Given the description of an element on the screen output the (x, y) to click on. 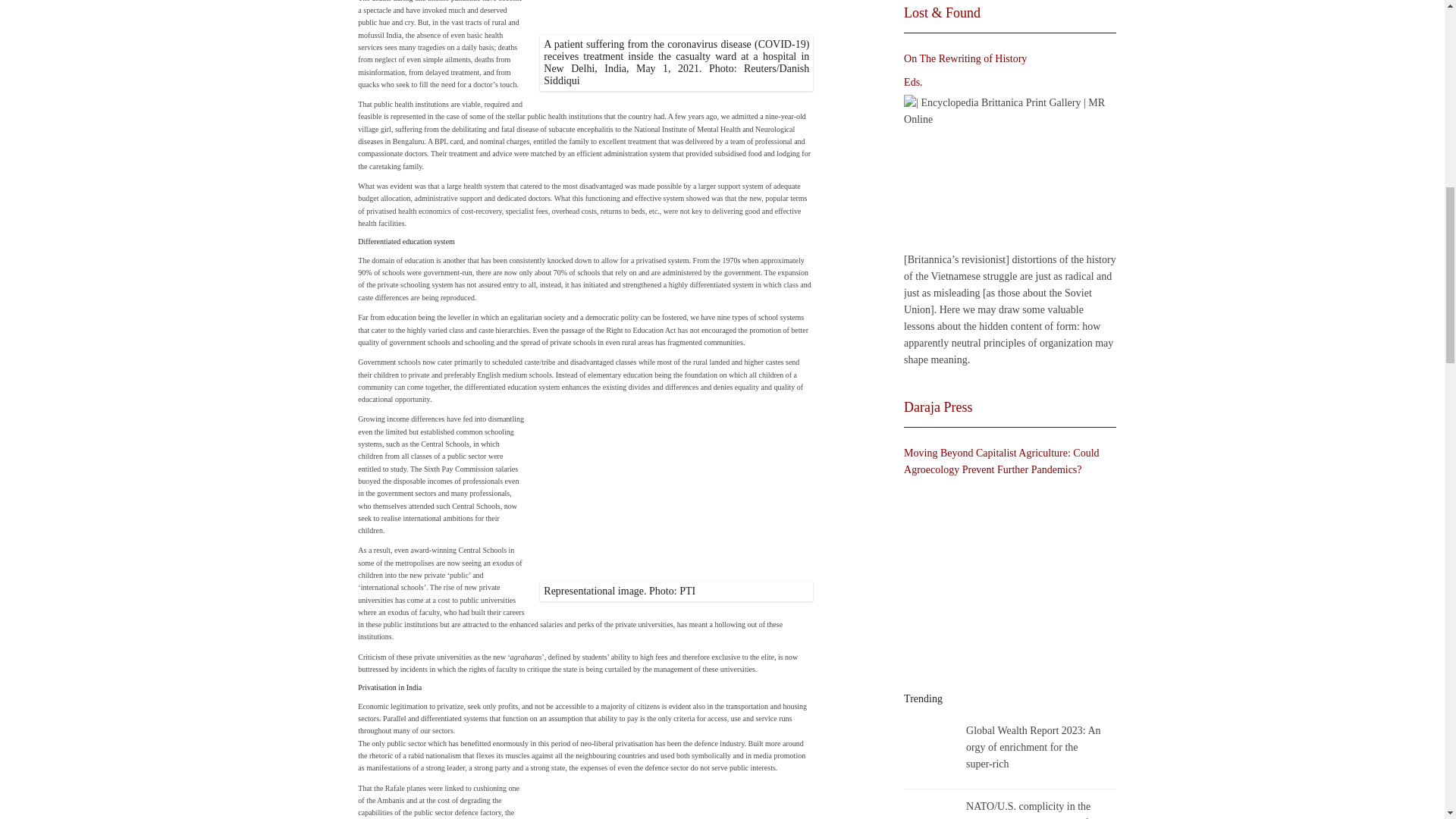
Posts by Eds. (913, 82)
On The Rewriting of History (1006, 171)
